Given the description of an element on the screen output the (x, y) to click on. 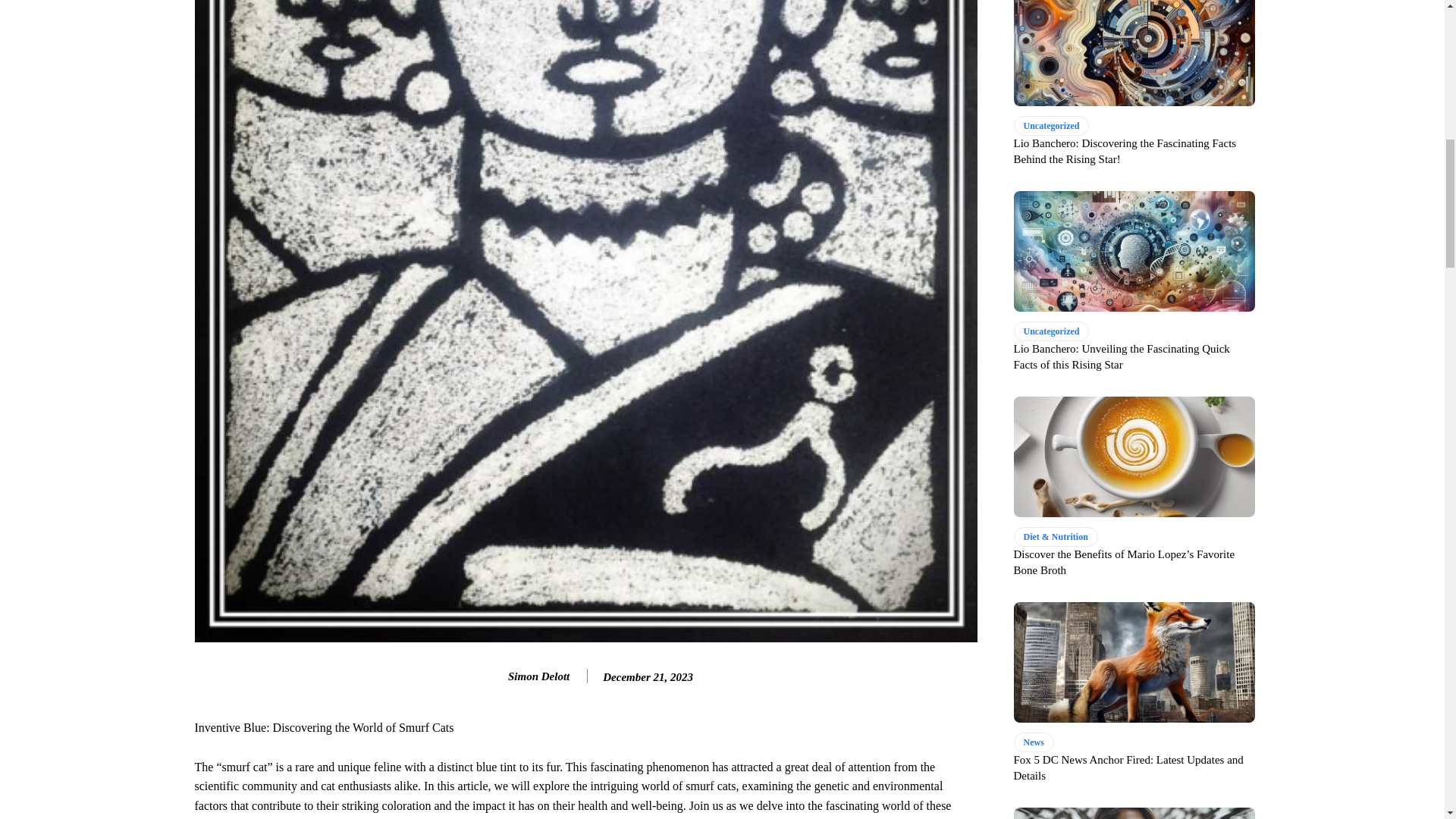
Simon Delott (492, 676)
